Given the description of an element on the screen output the (x, y) to click on. 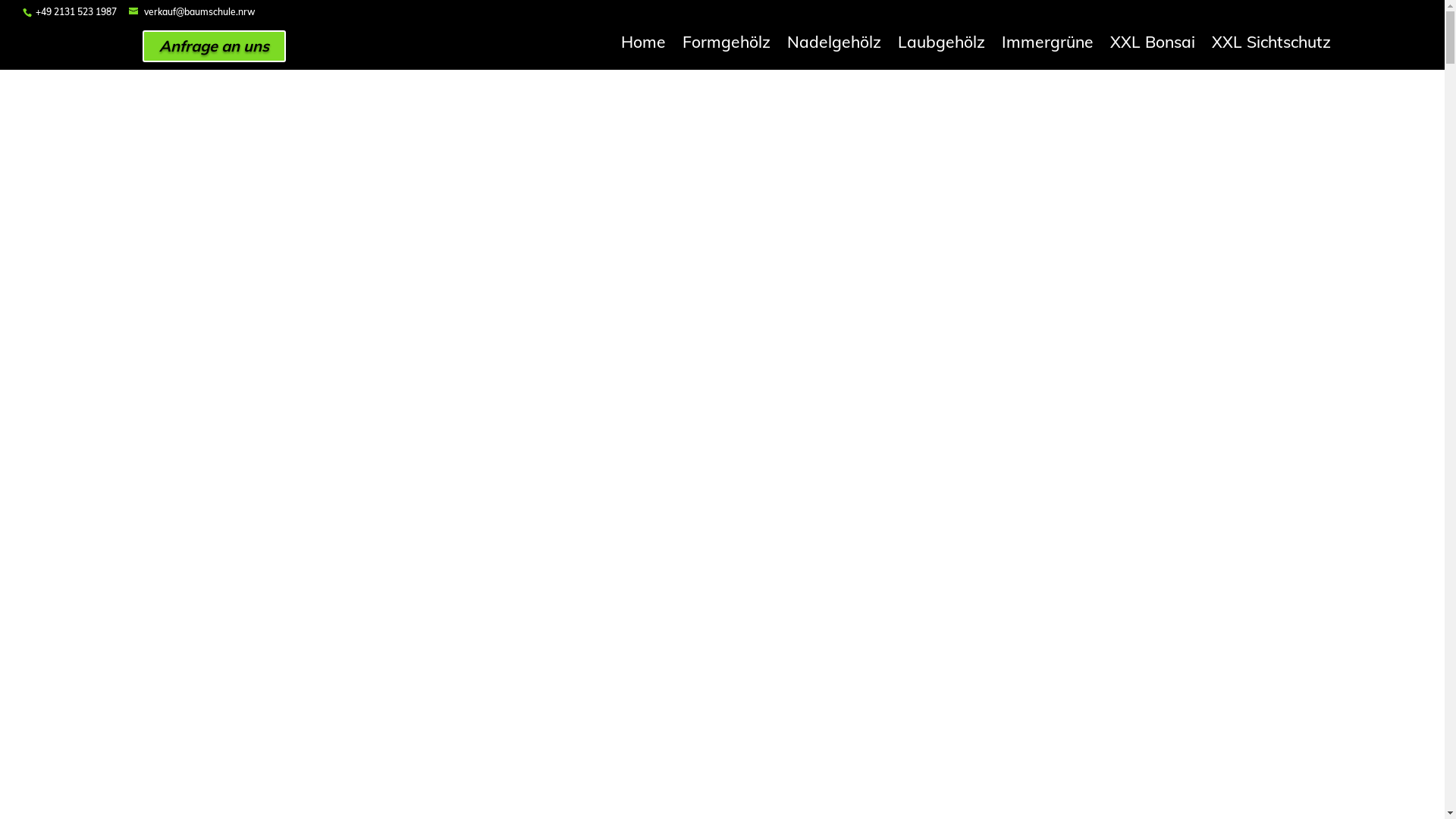
XXL Sichtschutz Element type: text (1270, 44)
XXL Bonsai Element type: text (1152, 44)
verkauf@baumschule.nrw Element type: text (191, 11)
+49 2131 523 1987 Element type: text (75, 11)
Anfrage an uns Element type: text (213, 46)
Home Element type: text (643, 44)
